Given the description of an element on the screen output the (x, y) to click on. 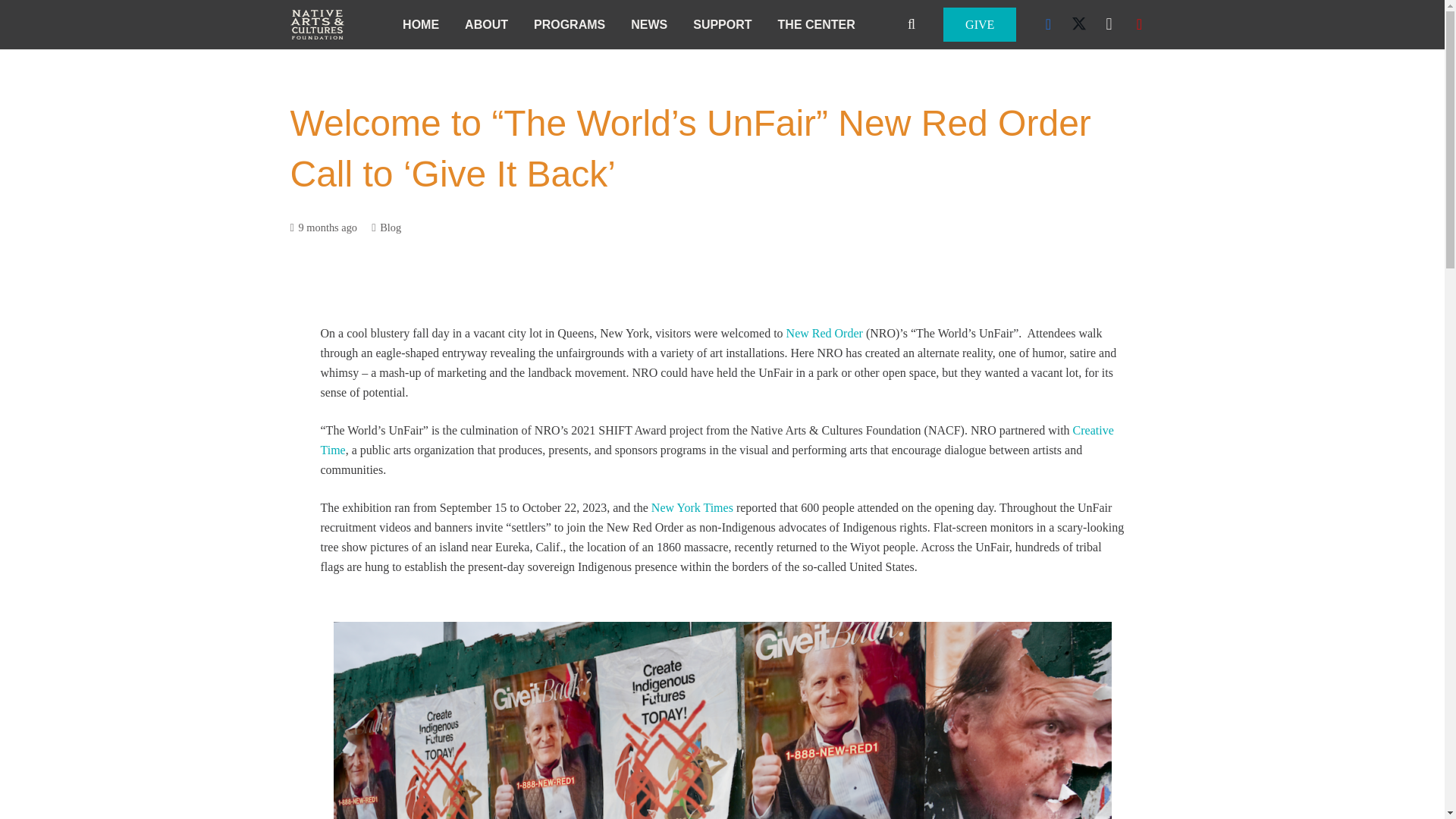
THE CENTER (816, 24)
Facebook (1048, 24)
Twitter (1079, 24)
NEWS (648, 24)
ABOUT (486, 24)
PROGRAMS (569, 24)
SUPPORT (721, 24)
YouTube (1139, 24)
Instagram (1109, 24)
HOME (420, 24)
